Given the description of an element on the screen output the (x, y) to click on. 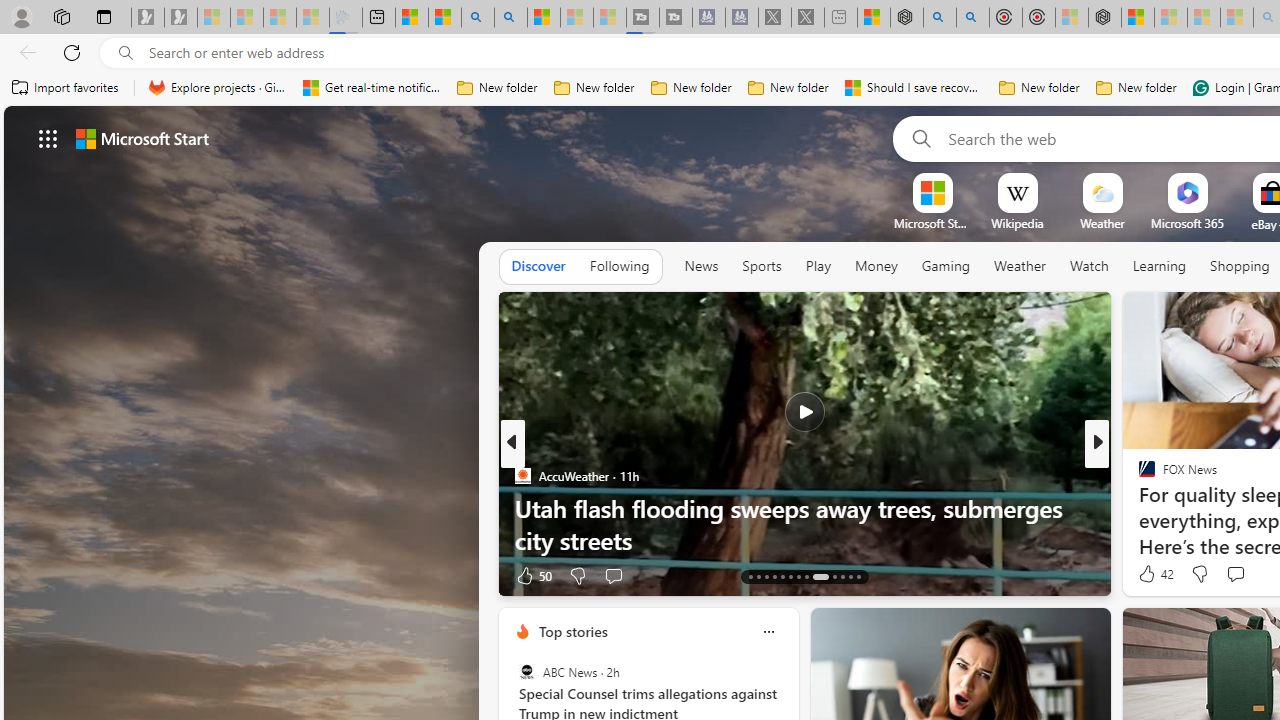
49 Like (1149, 574)
News (701, 267)
Import favorites (65, 88)
AutomationID: tab-13 (750, 576)
42 Like (1154, 574)
Microsoft 365 (1186, 223)
Newsletter Sign Up - Sleeping (181, 17)
AutomationID: tab-19 (797, 576)
